Given the description of an element on the screen output the (x, y) to click on. 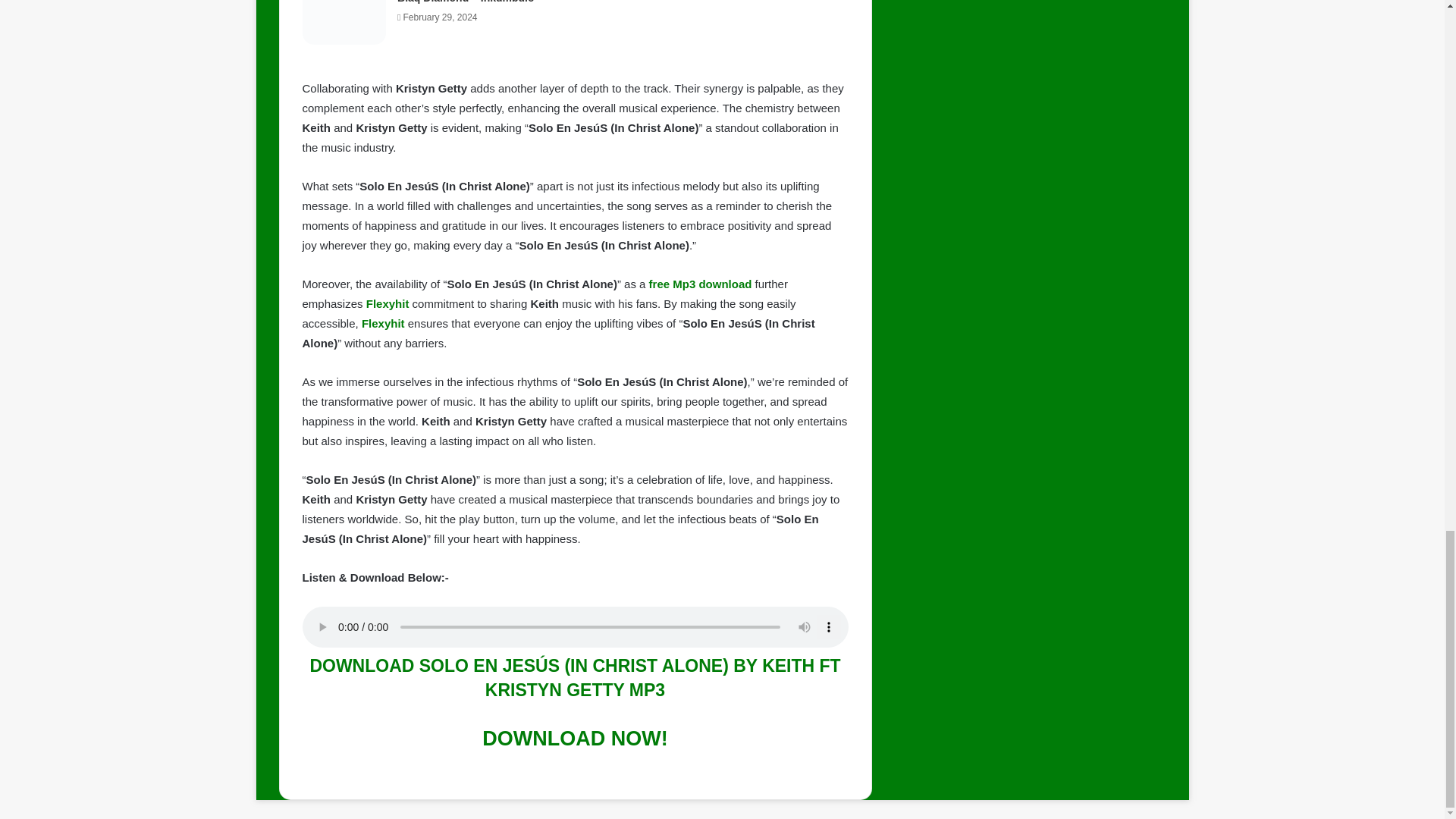
free Mp3 download (700, 283)
Flexyhit (387, 303)
Flexyhit (382, 323)
DOWNLOAD NOW! (574, 738)
Download Music Mp3 Video Mp4 Album Zip (574, 738)
